Given the description of an element on the screen output the (x, y) to click on. 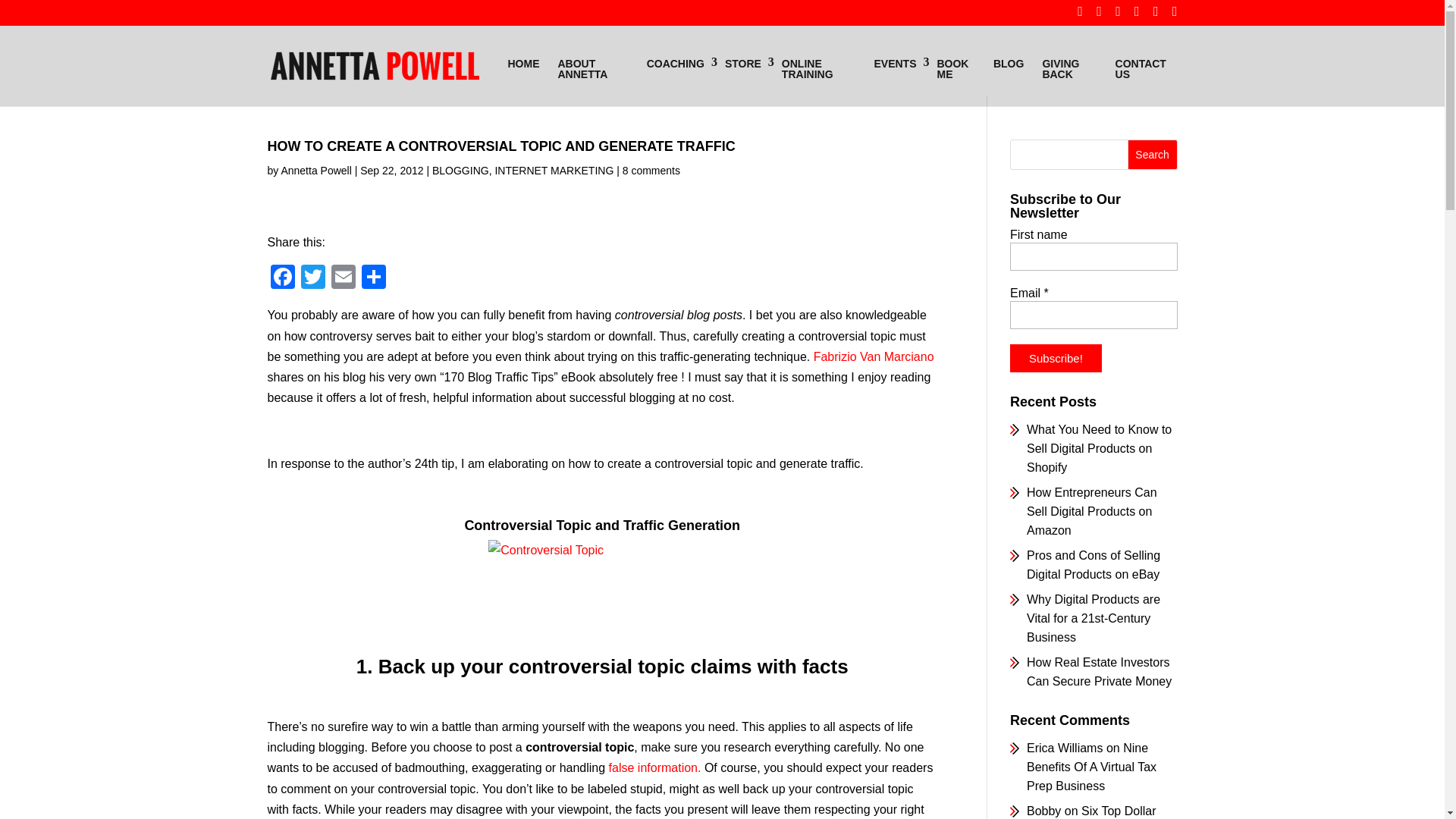
Twitter (312, 278)
BOOK ME (955, 68)
EVENTS (895, 63)
ABOUT ANNETTA (592, 68)
Organo Gold Under Federal Investigation False Allegations (654, 767)
BLOG (1008, 63)
Email (342, 278)
Search (1151, 154)
GIVING BACK (1068, 68)
ONLINE TRAINING (818, 68)
COACHING (676, 63)
HOME (523, 63)
Posts by Annetta Powell (315, 170)
STORE (744, 63)
Subscribe! (1056, 357)
